Given the description of an element on the screen output the (x, y) to click on. 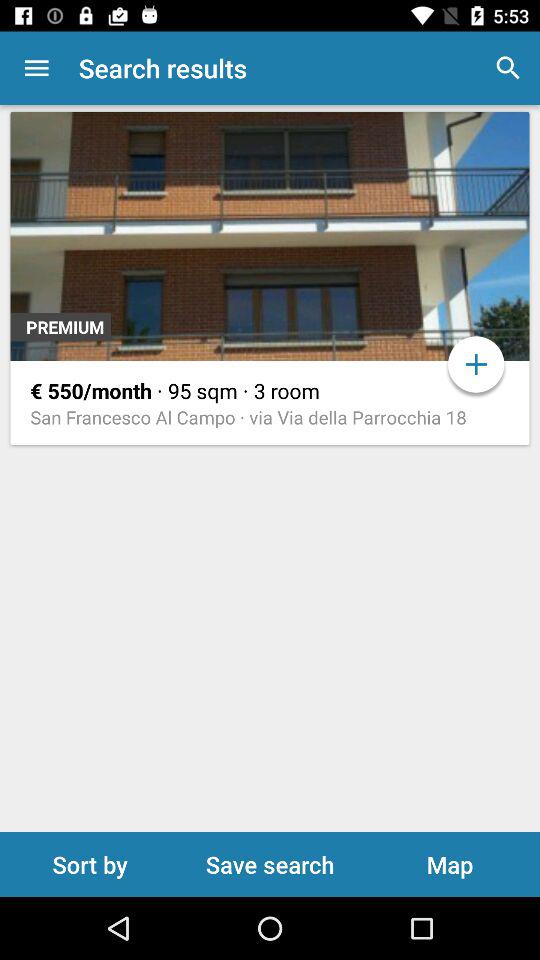
tap the icon to the right of the save search icon (450, 863)
